Given the description of an element on the screen output the (x, y) to click on. 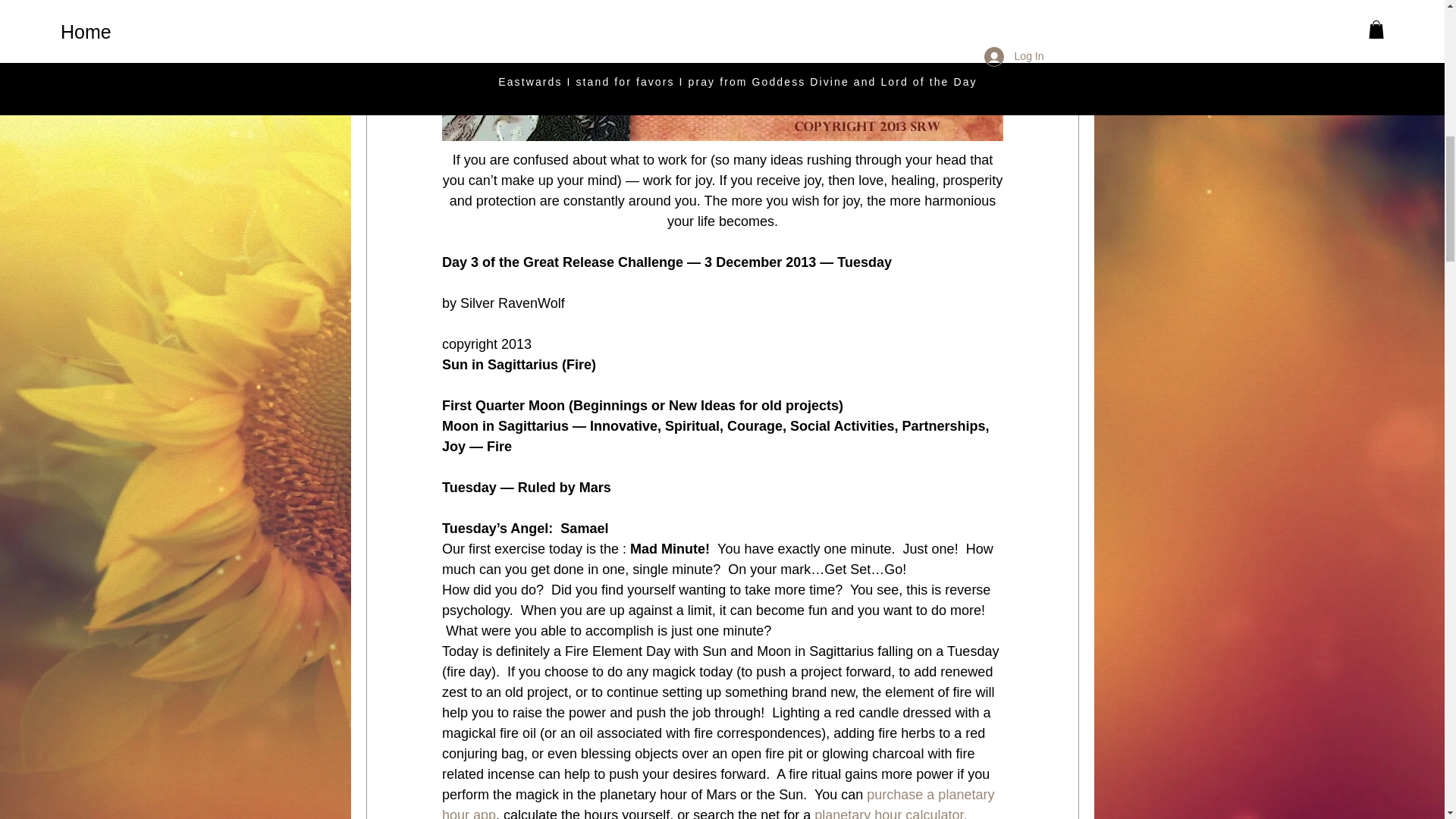
purchase a planetary hour app (719, 803)
planetary hour calculator.  (892, 813)
